Given the description of an element on the screen output the (x, y) to click on. 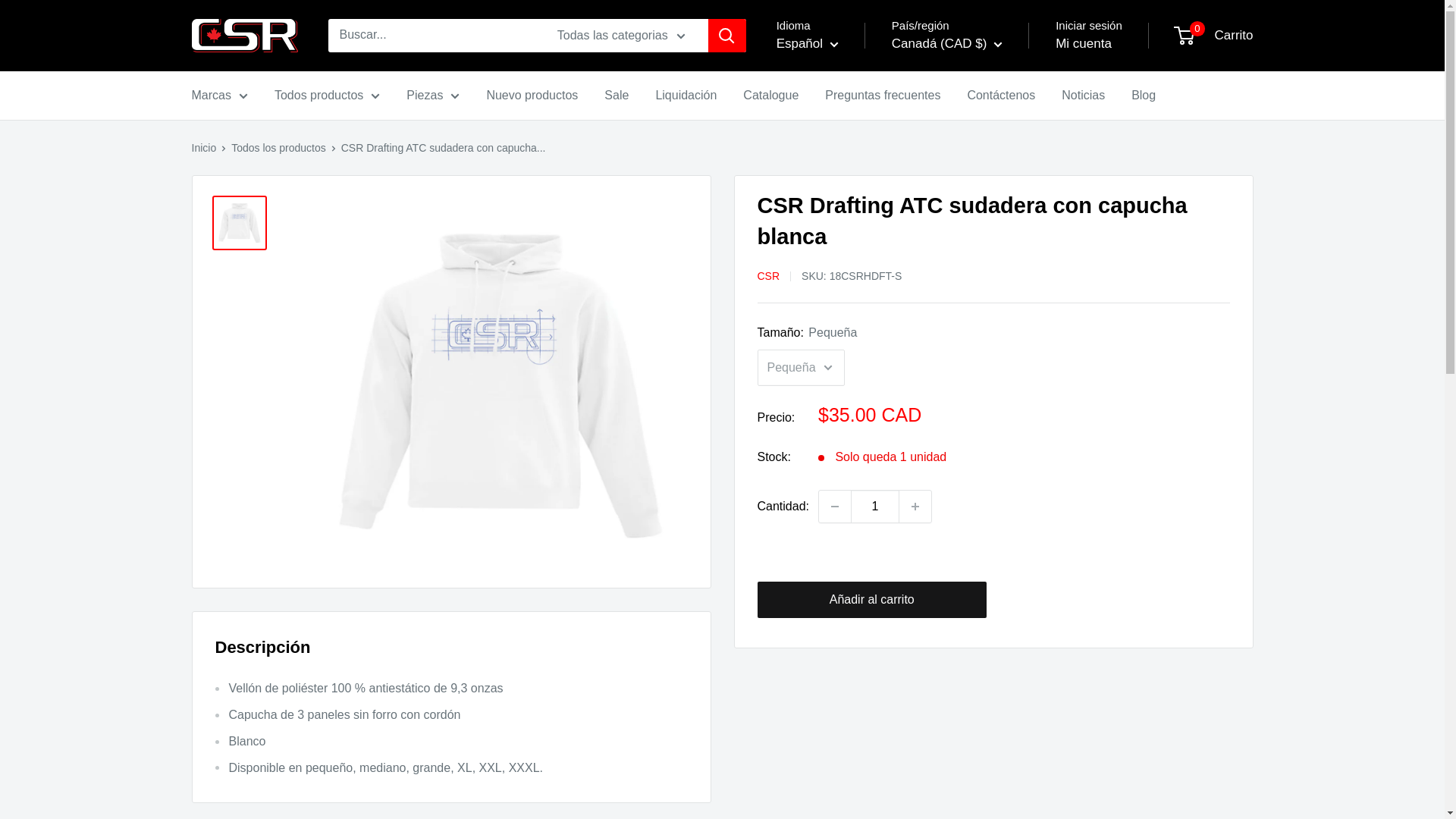
1 (874, 506)
Disminuir la cantidad en 1 (834, 506)
Aumentar la cantidad en 1 (915, 506)
